Given the description of an element on the screen output the (x, y) to click on. 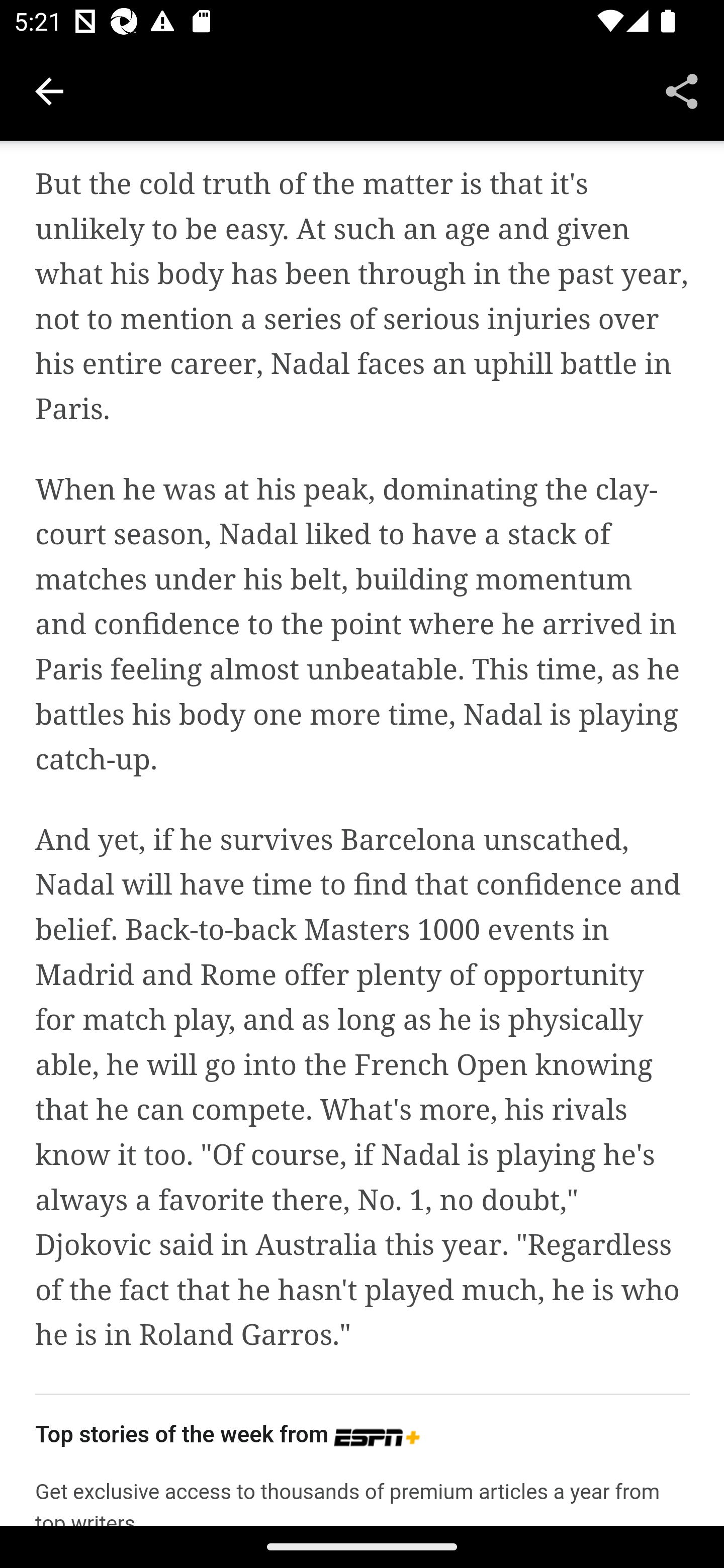
Navigate up (49, 91)
Share (681, 90)
